Given the description of an element on the screen output the (x, y) to click on. 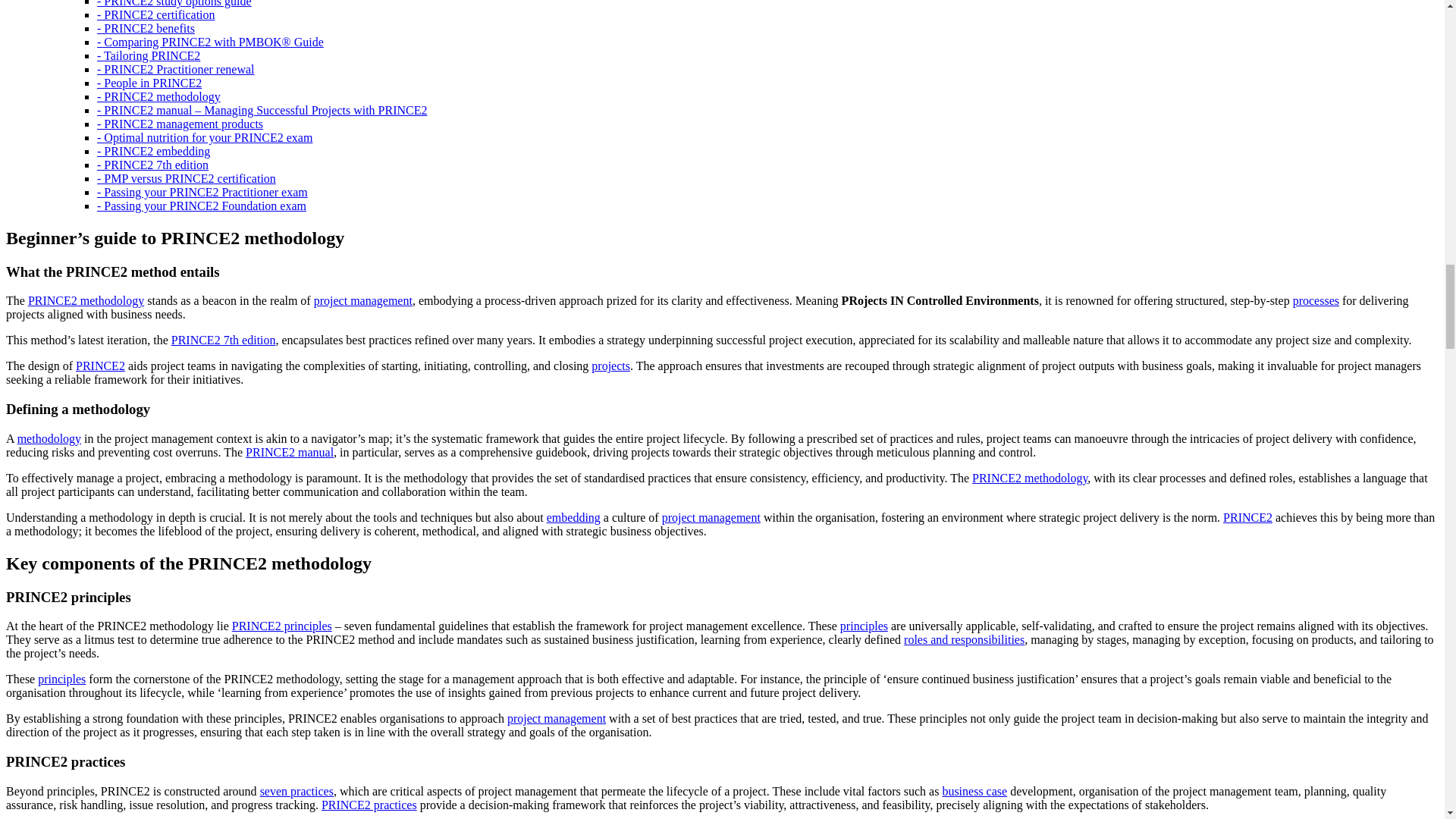
project management (363, 300)
projects (610, 365)
methodology (49, 438)
PRINCE2 (1247, 517)
roles and responsibilities (964, 639)
principles (864, 625)
embedding (573, 517)
business case (974, 790)
processes (1315, 300)
project management (555, 717)
